Given the description of an element on the screen output the (x, y) to click on. 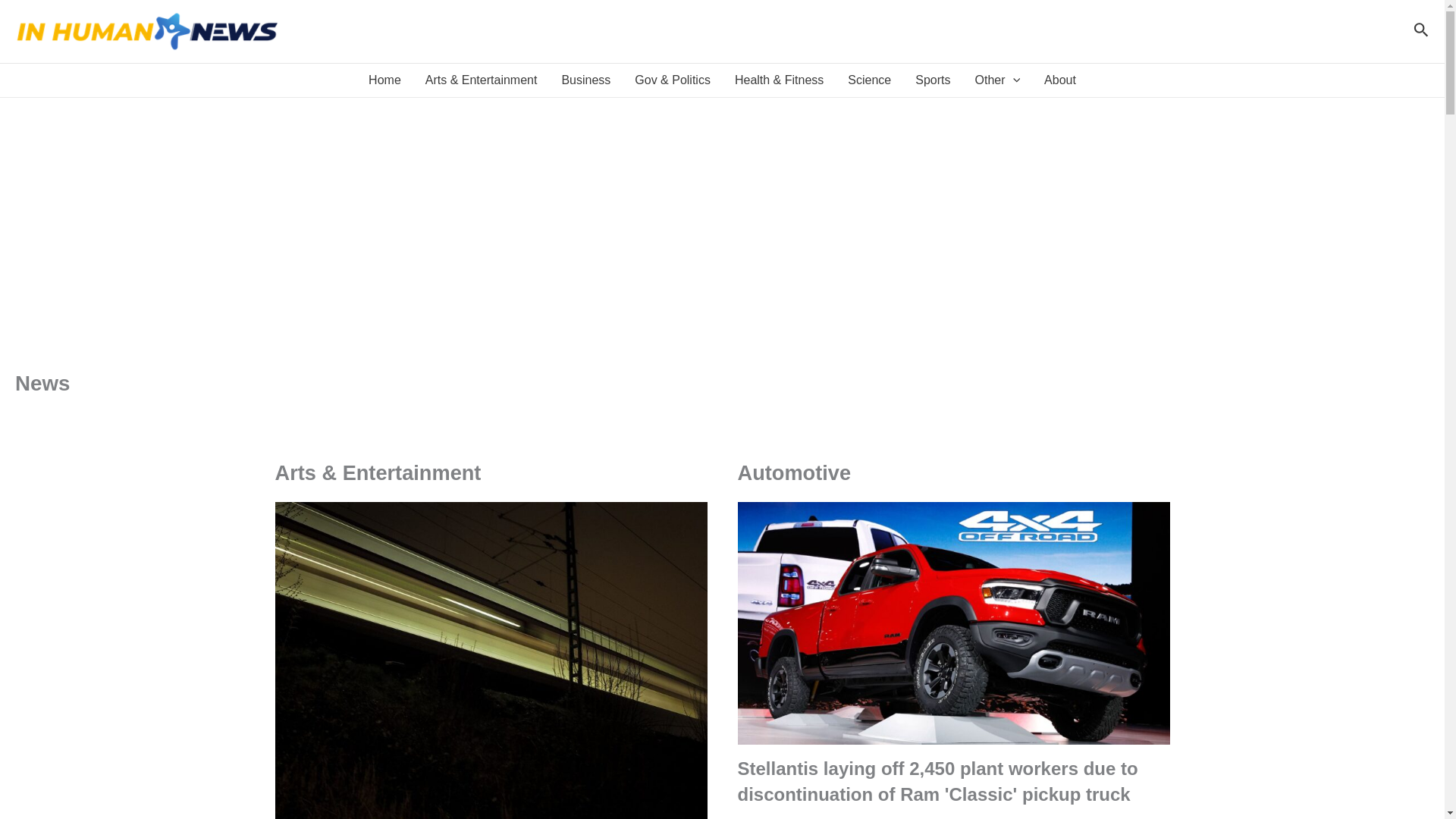
Home (384, 80)
Sports (932, 80)
Science (868, 80)
Other (997, 80)
About (1059, 80)
Business (585, 80)
